Given the description of an element on the screen output the (x, y) to click on. 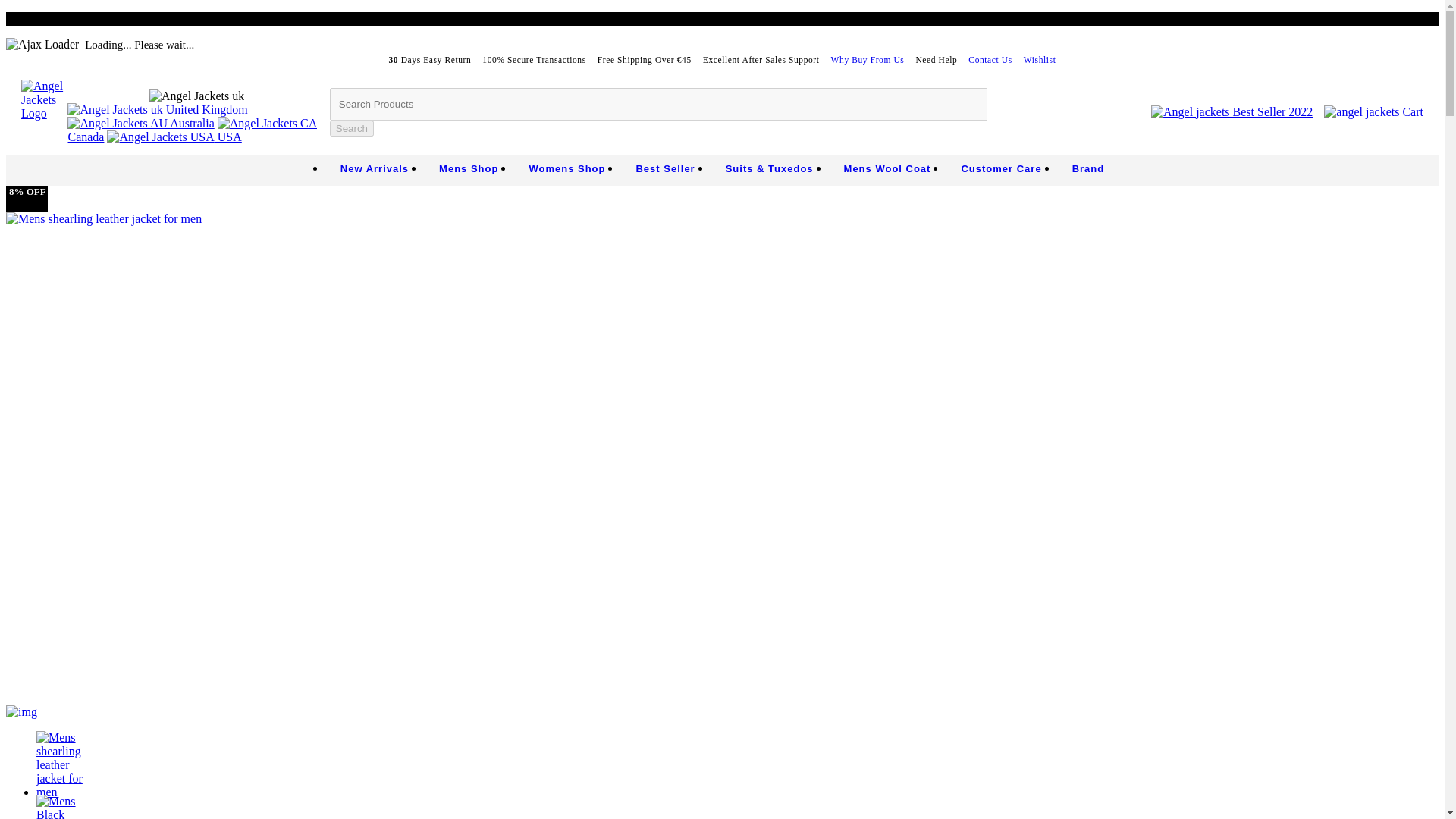
New Arrivals (373, 168)
Mens Wool Coat (887, 168)
USA (173, 136)
Australia (140, 123)
Mens Black Shearling leather jacket (66, 806)
United Kingdom (156, 109)
uK (196, 96)
Mens shearling leather jacket for men (103, 219)
Mens shearling leather jacket for men (66, 765)
Why Buy From Us (867, 59)
Contact Us (989, 59)
Womens Shop (566, 168)
Canada (191, 130)
Best Seller (665, 168)
BestSeller2022 (1232, 110)
